Given the description of an element on the screen output the (x, y) to click on. 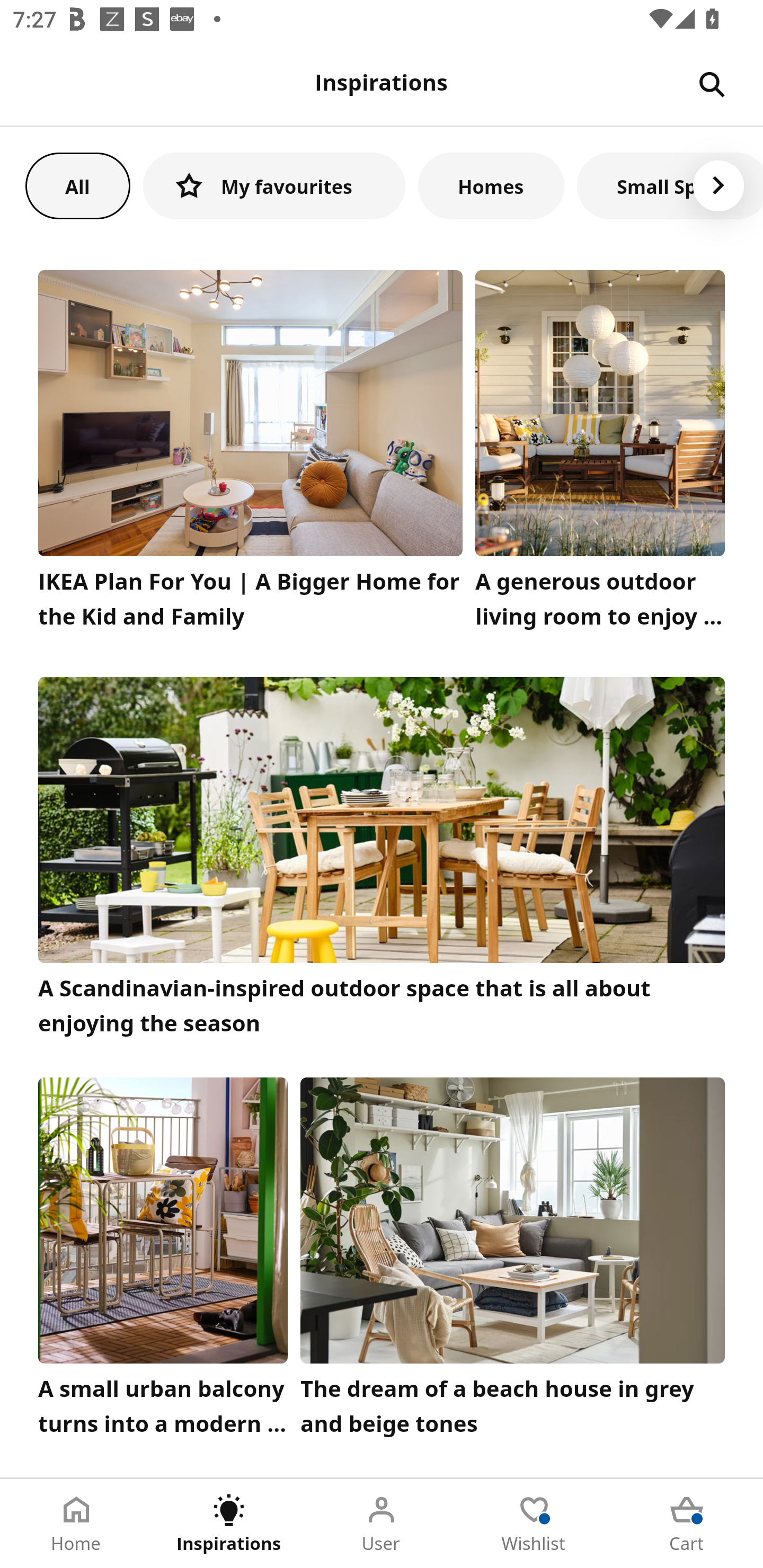
All (77, 185)
My favourites (274, 185)
Homes (491, 185)
Small Space (669, 185)
The dream of a beach house in grey and beige tones (512, 1261)
Home
Tab 1 of 5 (76, 1522)
Inspirations
Tab 2 of 5 (228, 1522)
User
Tab 3 of 5 (381, 1522)
Wishlist
Tab 4 of 5 (533, 1522)
Cart
Tab 5 of 5 (686, 1522)
